Given the description of an element on the screen output the (x, y) to click on. 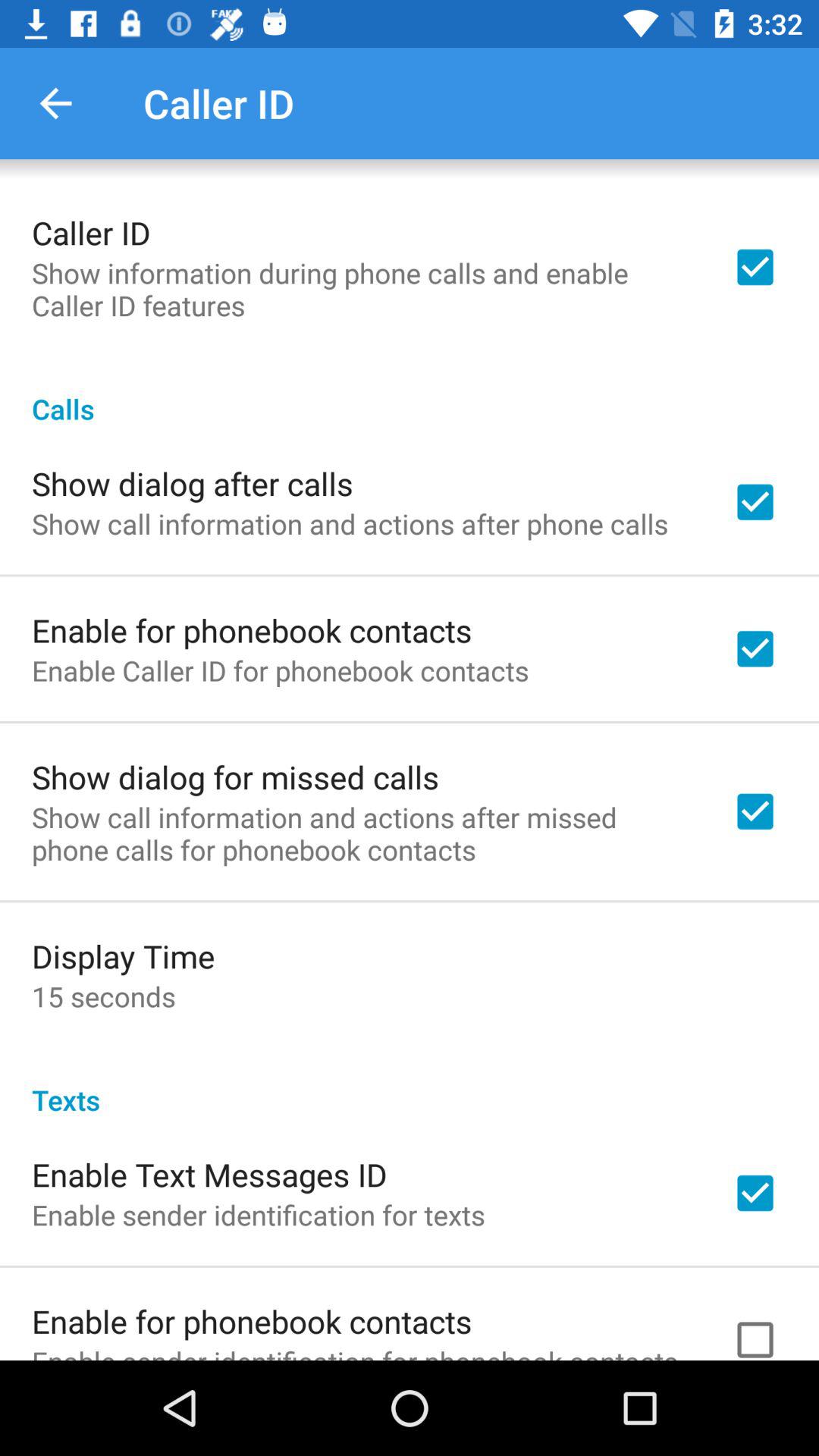
select 15 seconds item (103, 996)
